Given the description of an element on the screen output the (x, y) to click on. 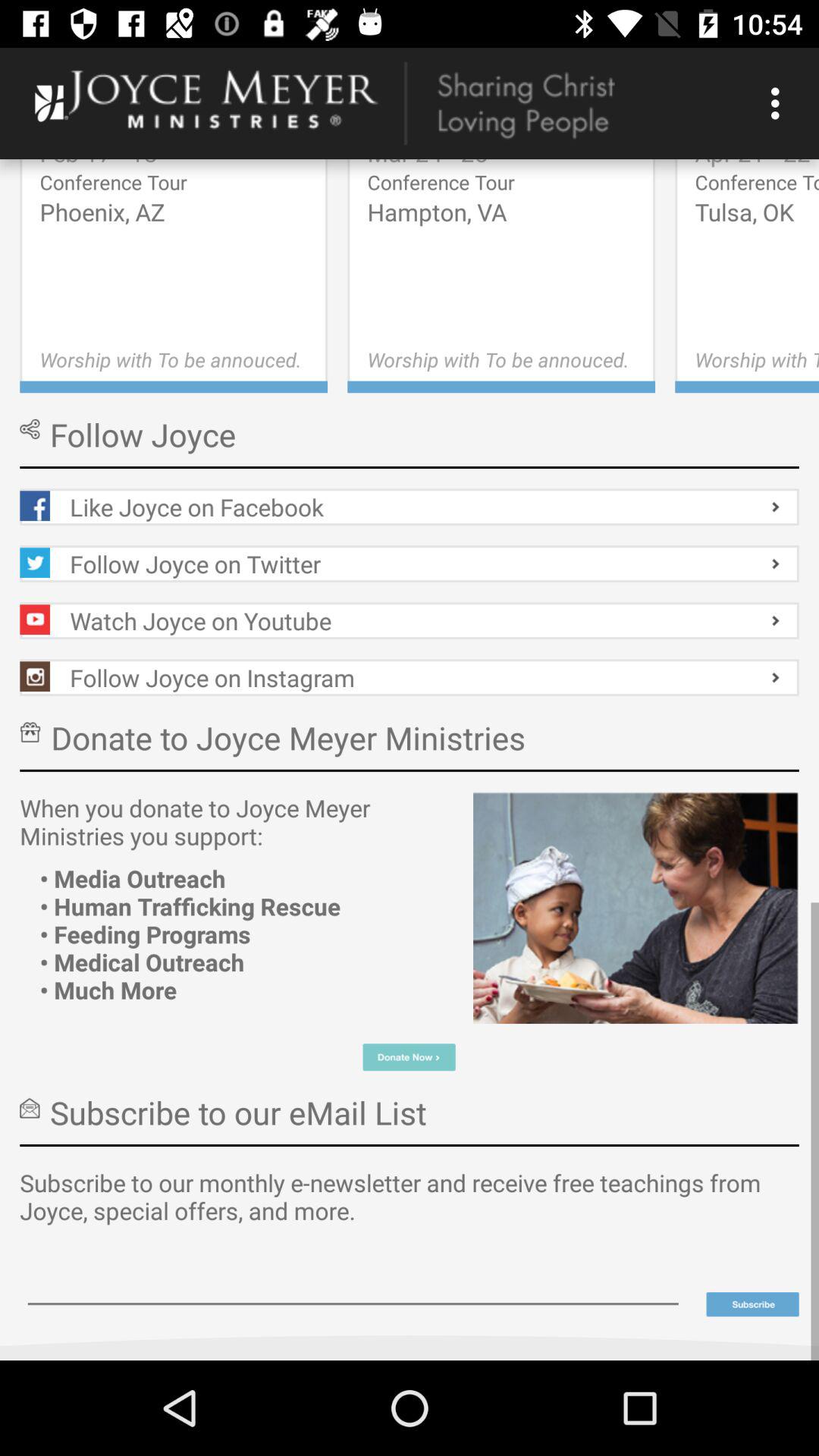
input email (352, 1283)
